Given the description of an element on the screen output the (x, y) to click on. 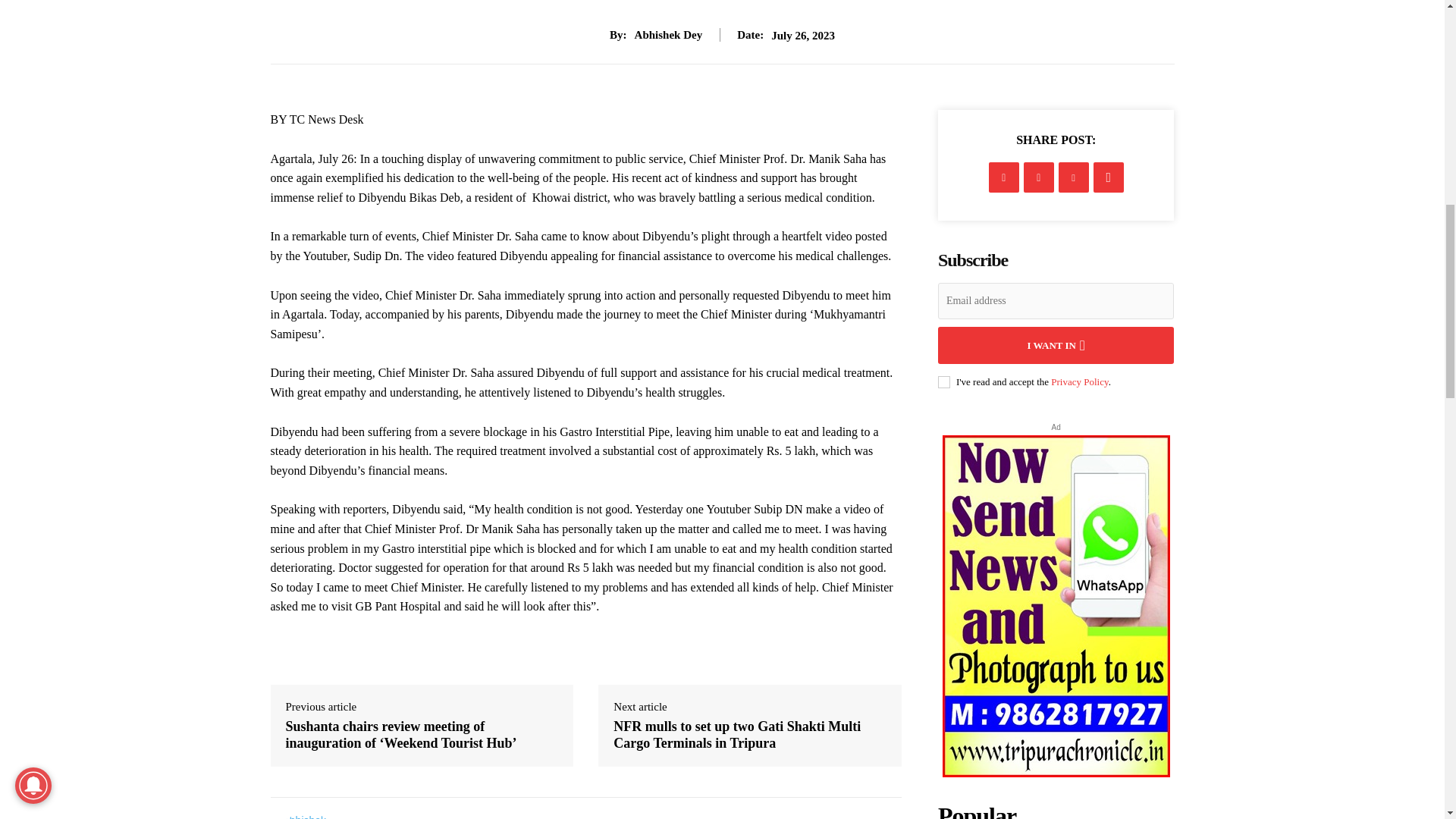
Pinterest (1073, 177)
Twitter (1038, 177)
Abhishek Dey (305, 816)
Facebook (1003, 177)
WhatsApp (1108, 177)
